Given the description of an element on the screen output the (x, y) to click on. 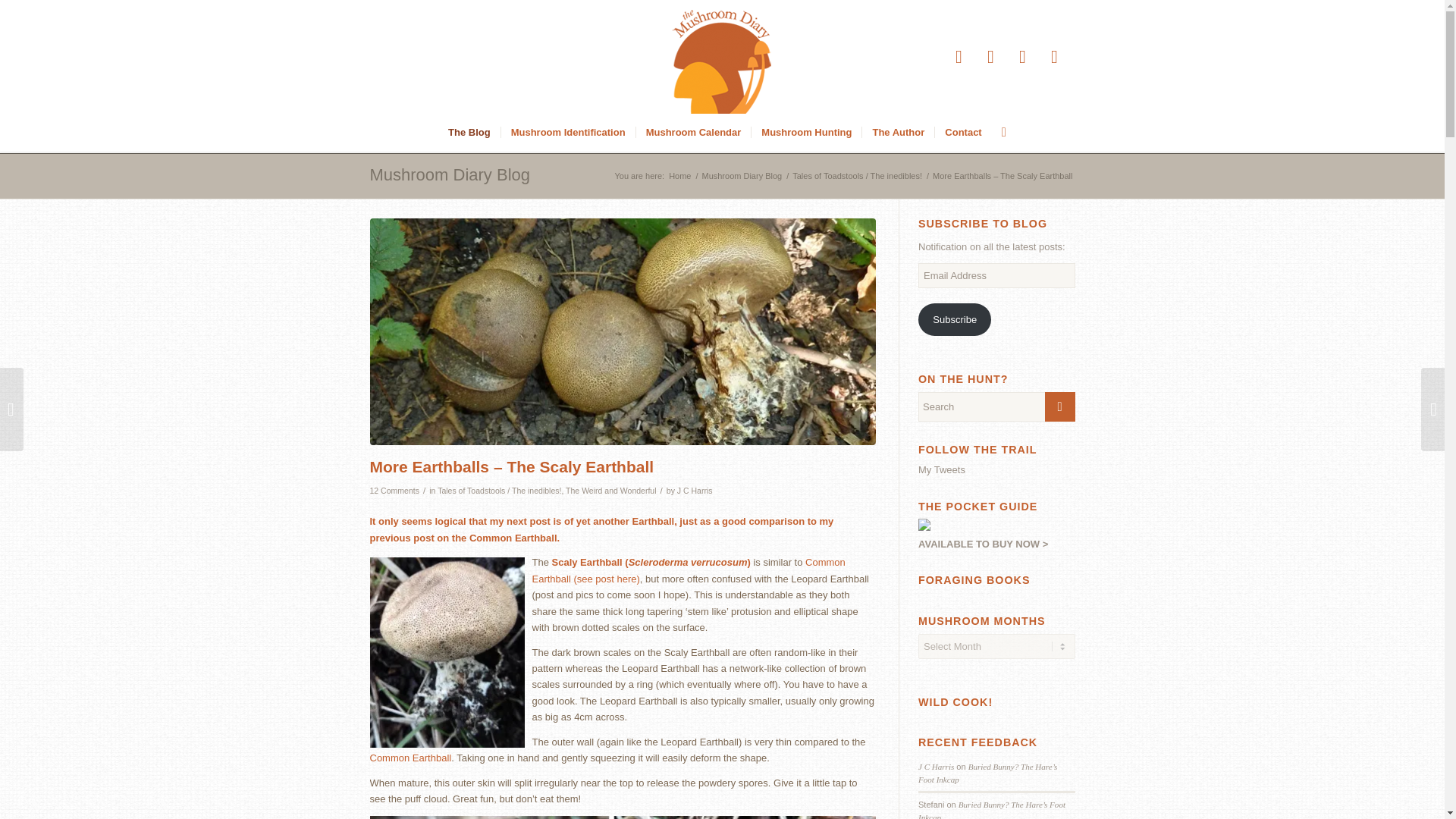
mushroomdiary-logo-2015-small (722, 56)
Flickr (1022, 56)
Common as muck! The Common Earthball (410, 757)
Common Earthball (410, 757)
Instagram (1054, 56)
Mushroom Diary Blog (741, 175)
Mushroom Identification (567, 132)
Home (679, 175)
Twitter (959, 56)
Mushroom Calendar (692, 132)
